Given the description of an element on the screen output the (x, y) to click on. 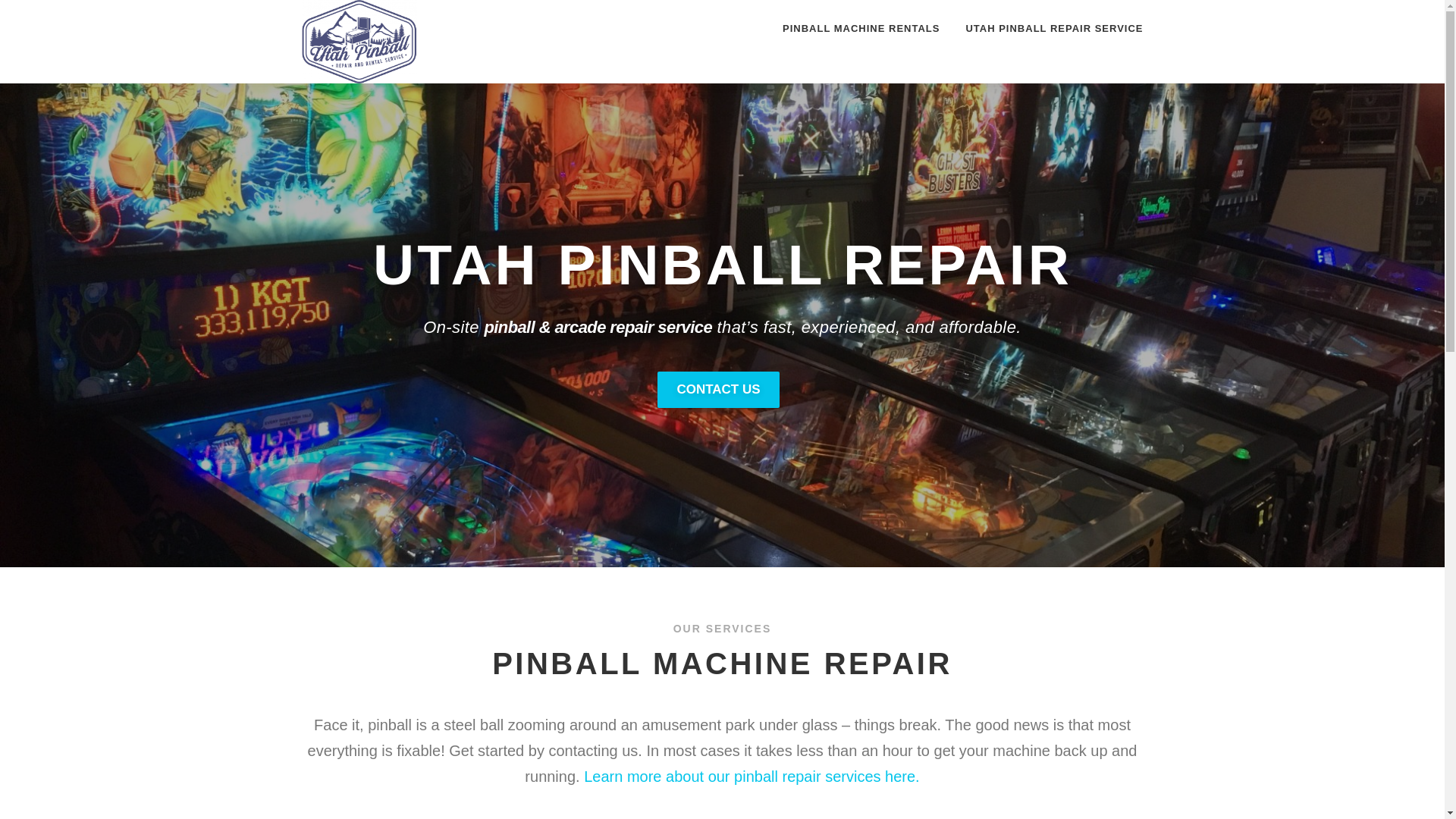
Learn more about our pinball repair services here. (750, 776)
PINBALL MACHINE RENTALS (861, 28)
UTAH PINBALL REPAIR SERVICE (1047, 28)
CONTACT US (718, 389)
